Given the description of an element on the screen output the (x, y) to click on. 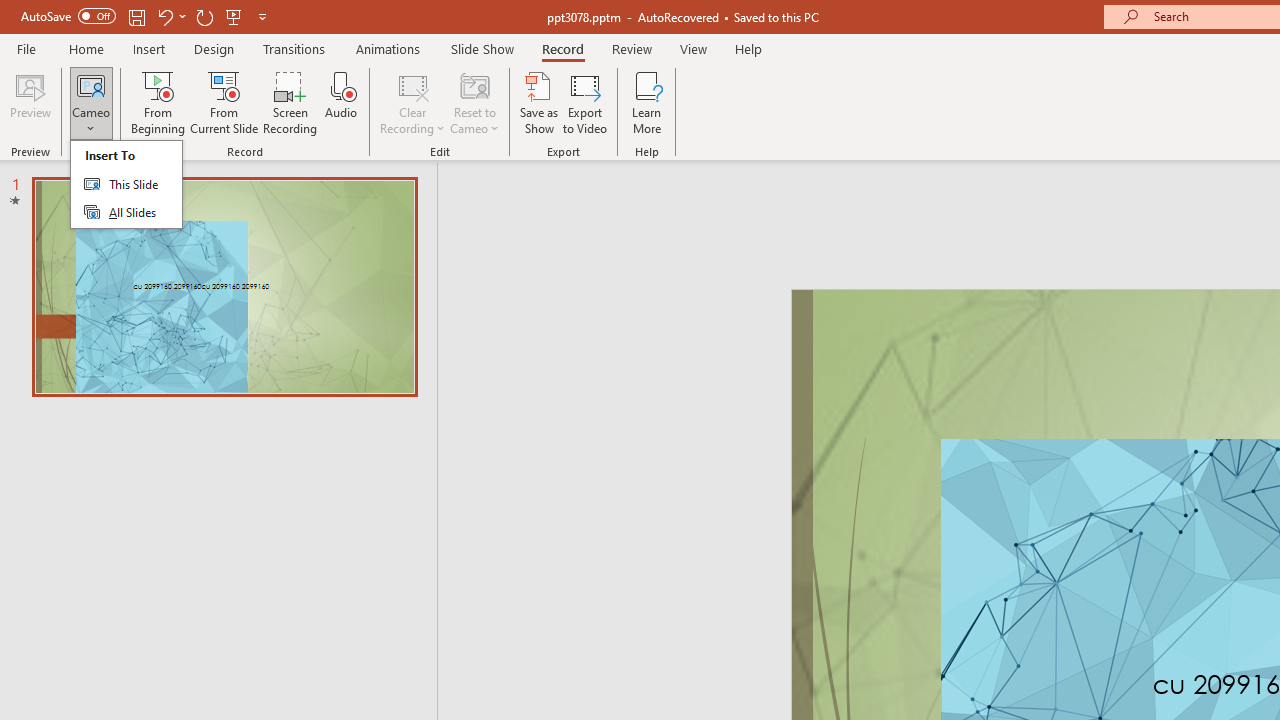
From Current Slide... (224, 102)
View (693, 48)
Review (631, 48)
Save (136, 15)
Clear Recording (412, 102)
&Cameo (126, 183)
Design (214, 48)
Help (748, 48)
Animations (388, 48)
Quick Access Toolbar (145, 16)
Record (562, 48)
AutoSave (68, 16)
Undo (170, 15)
System (10, 11)
Preview (30, 102)
